Given the description of an element on the screen output the (x, y) to click on. 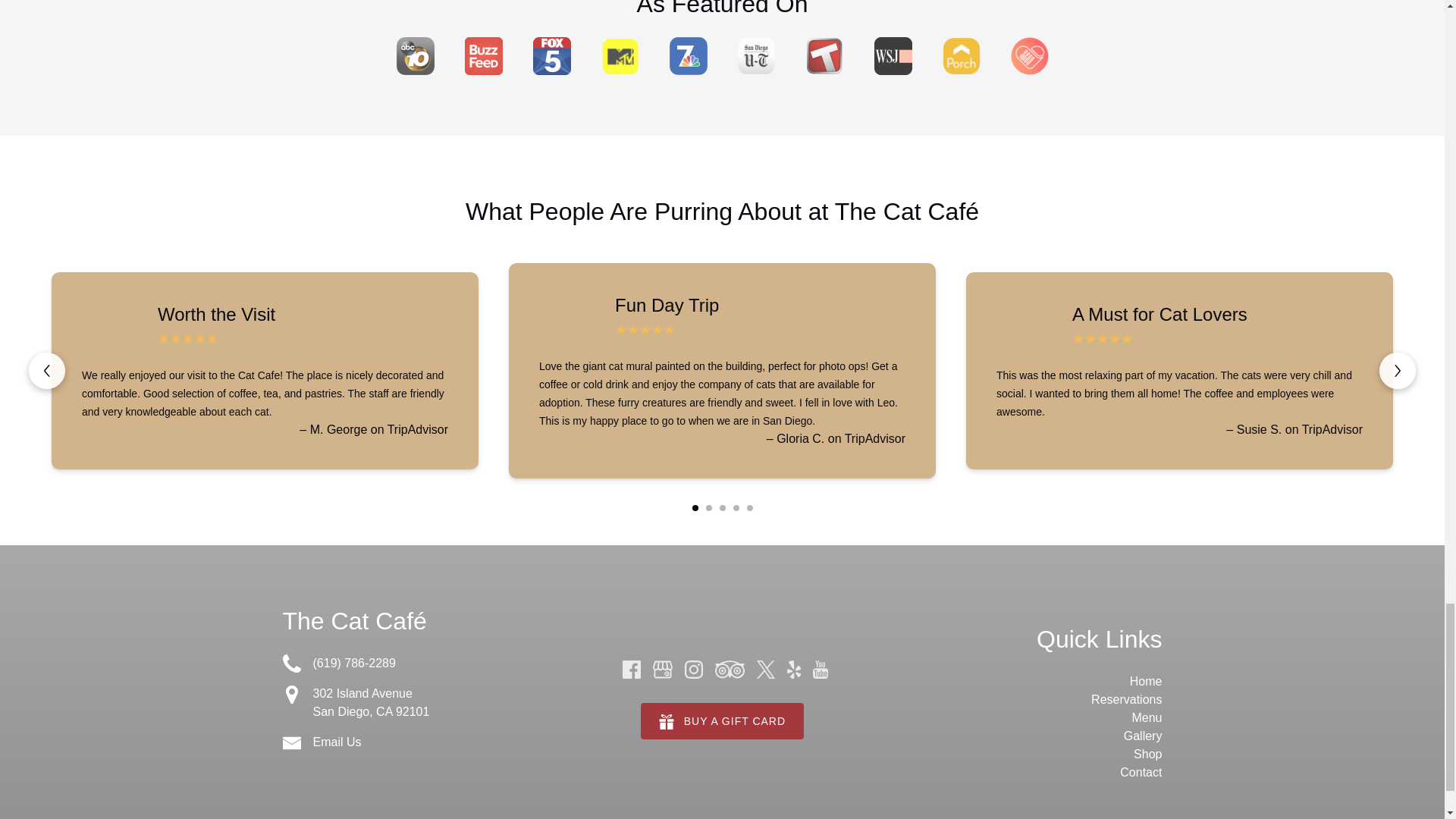
Map Marker (290, 694)
Envelope (290, 742)
Phone (290, 663)
